Given the description of an element on the screen output the (x, y) to click on. 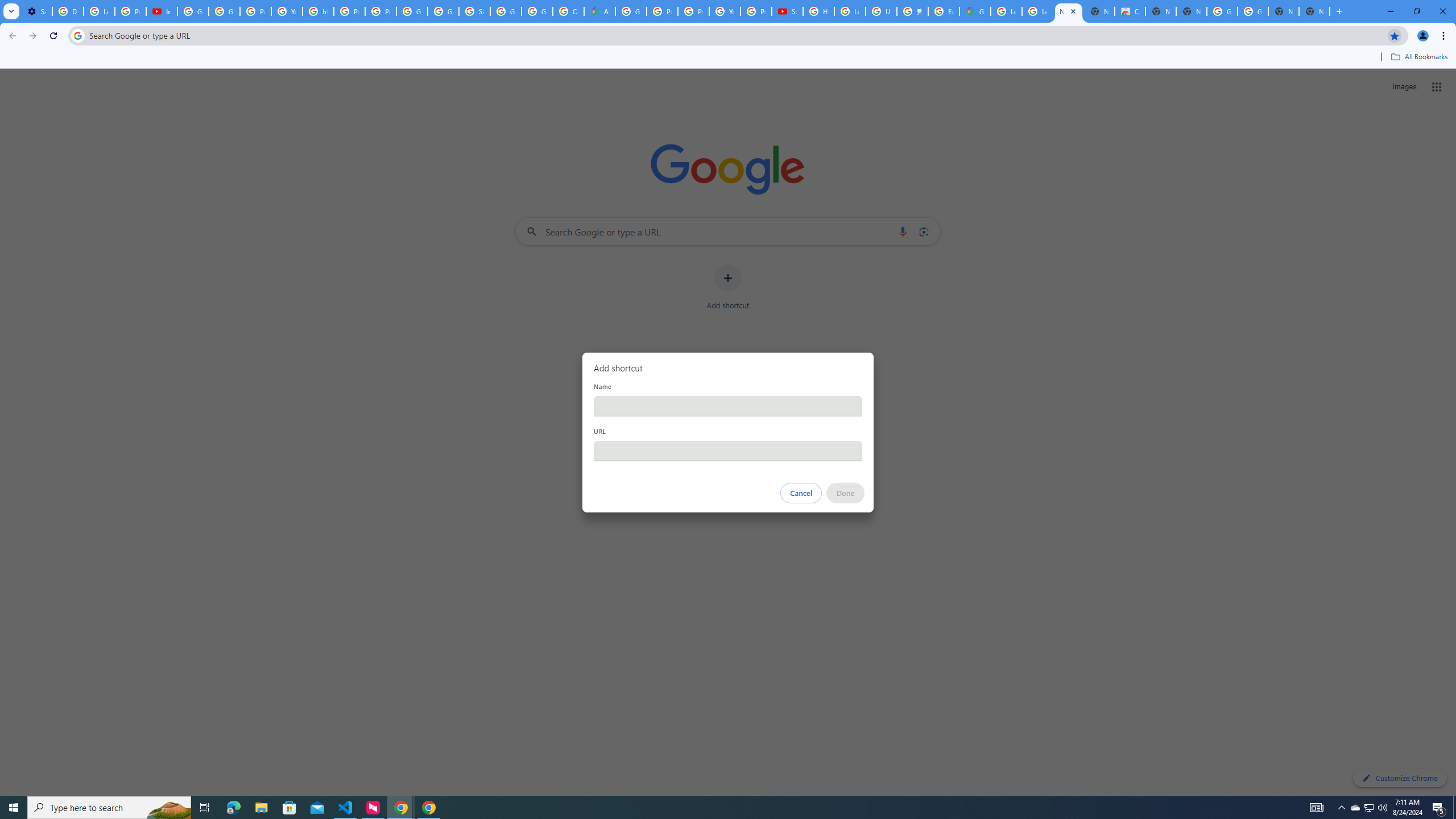
YouTube (286, 11)
Subscriptions - YouTube (787, 11)
New Tab (1314, 11)
Sign in - Google Accounts (474, 11)
Delete photos & videos - Computer - Google Photos Help (67, 11)
